Given the description of an element on the screen output the (x, y) to click on. 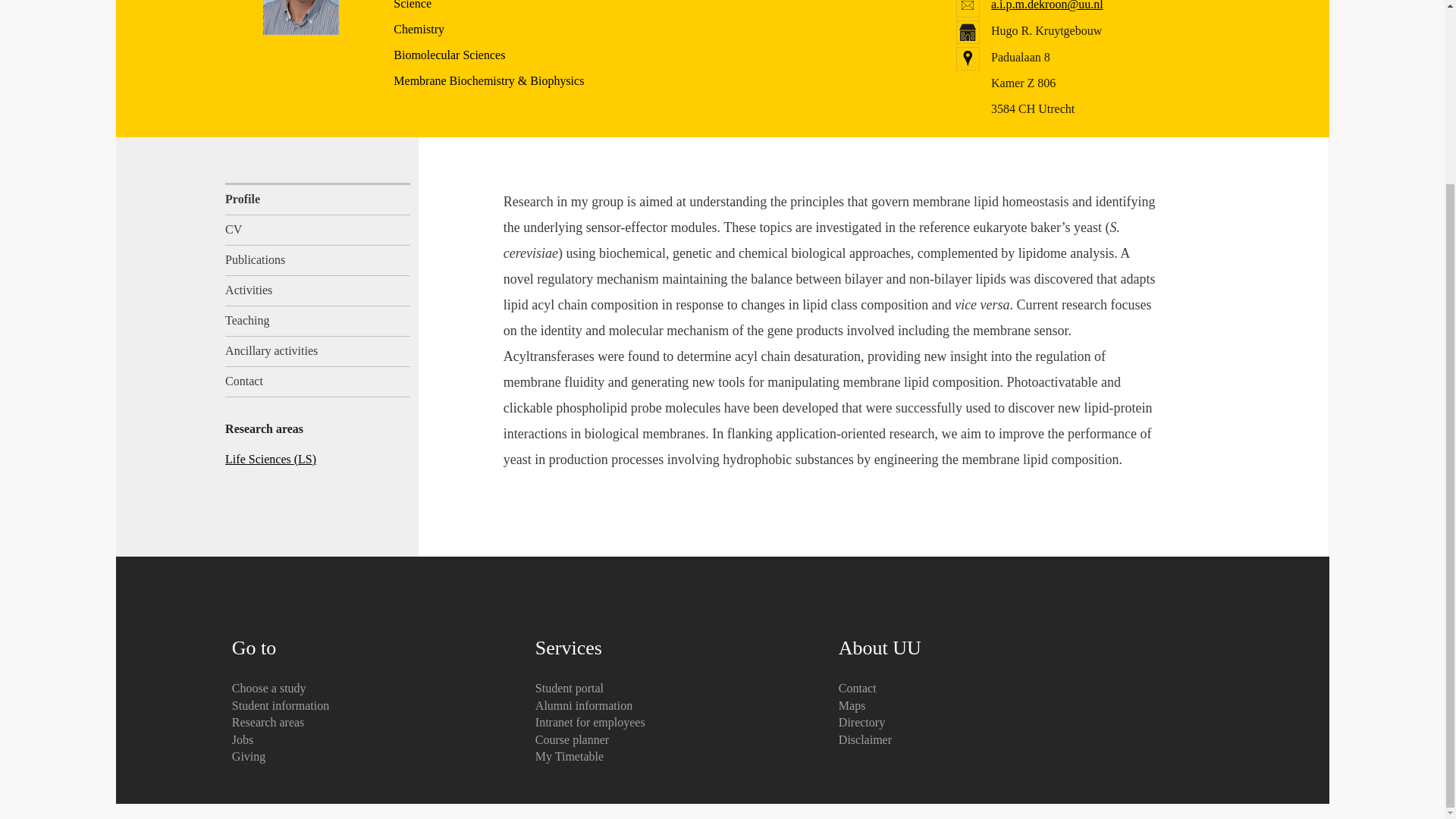
Activities (317, 291)
Intranet for employees (590, 721)
Teaching (317, 321)
Alumni information (583, 705)
Profile (317, 198)
Publications (317, 260)
Choose a study (268, 687)
Science (411, 4)
Jobs (242, 739)
Contact (317, 381)
CV (317, 230)
Chemistry (418, 29)
Student information (280, 705)
Giving (247, 756)
Student portal (569, 687)
